Given the description of an element on the screen output the (x, y) to click on. 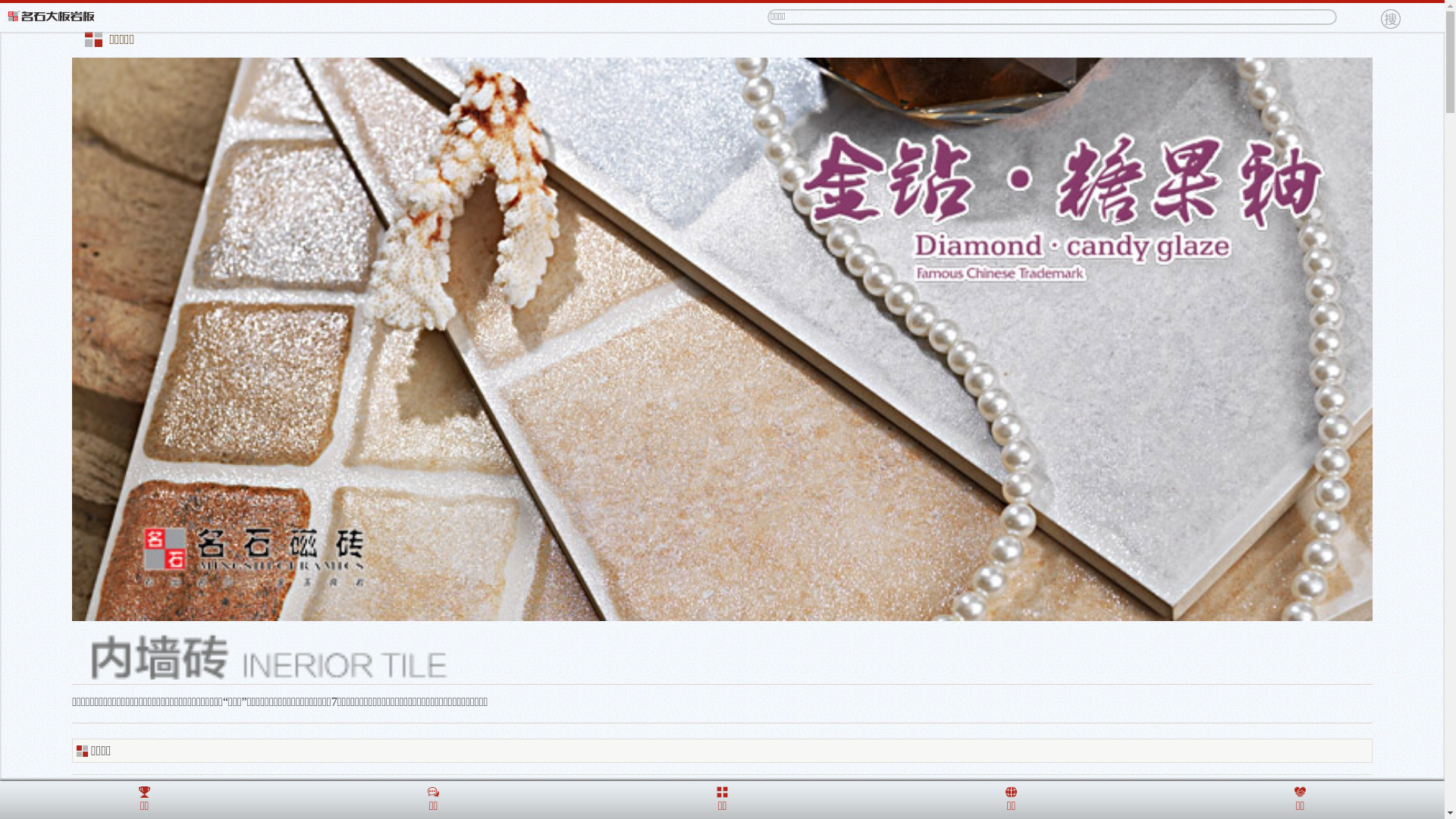
300x600 Element type: text (396, 800)
